Given the description of an element on the screen output the (x, y) to click on. 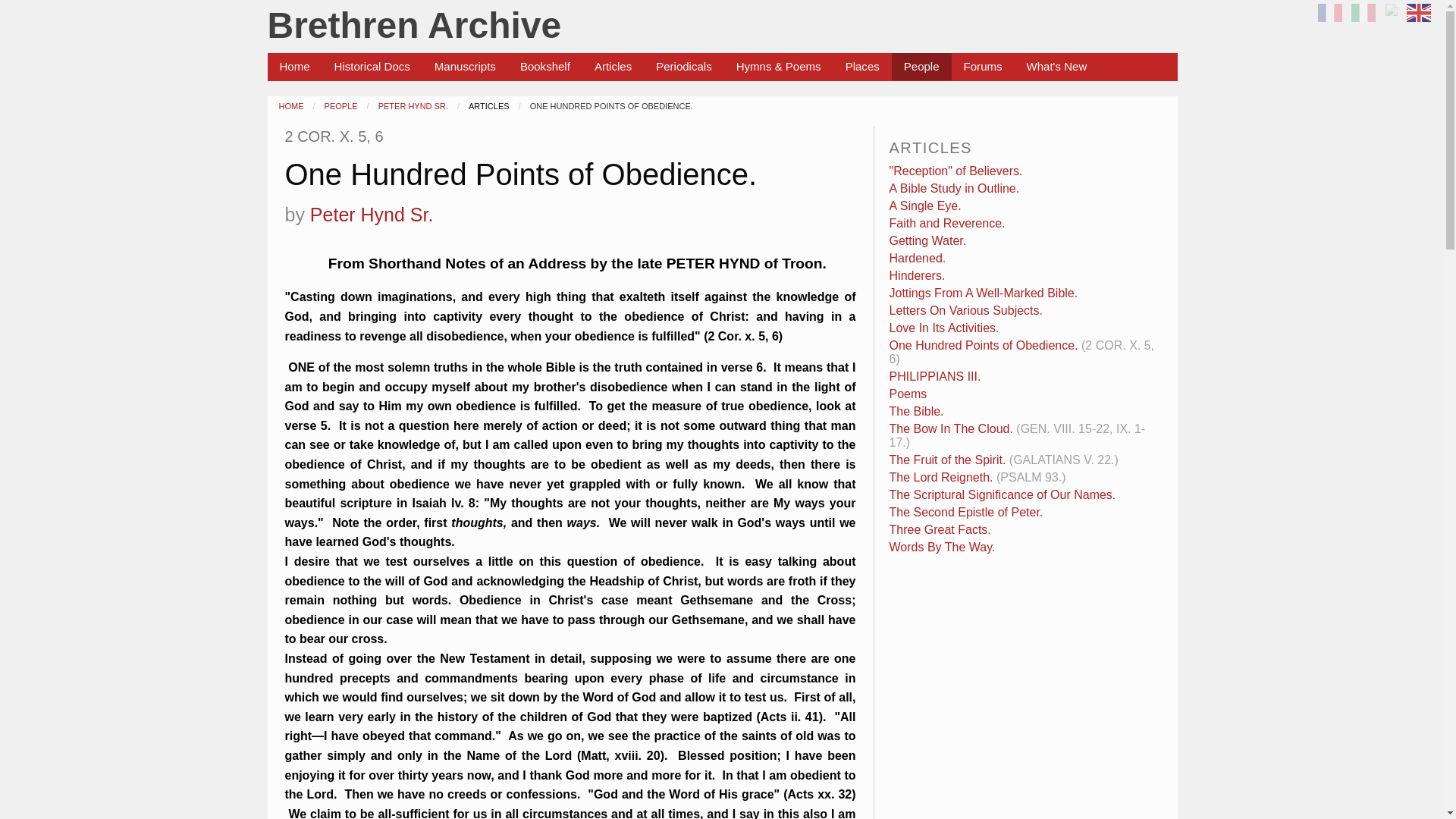
Jottings From A Well-Marked Bible. (983, 292)
Poems (908, 393)
"Reception" of Believers. (956, 170)
Hardened. (917, 257)
Getting Water. (927, 240)
Articles (612, 66)
People (921, 66)
One Hundred Points of Obedience. (983, 345)
Forums (983, 66)
Historical Docs (371, 66)
